Given the description of an element on the screen output the (x, y) to click on. 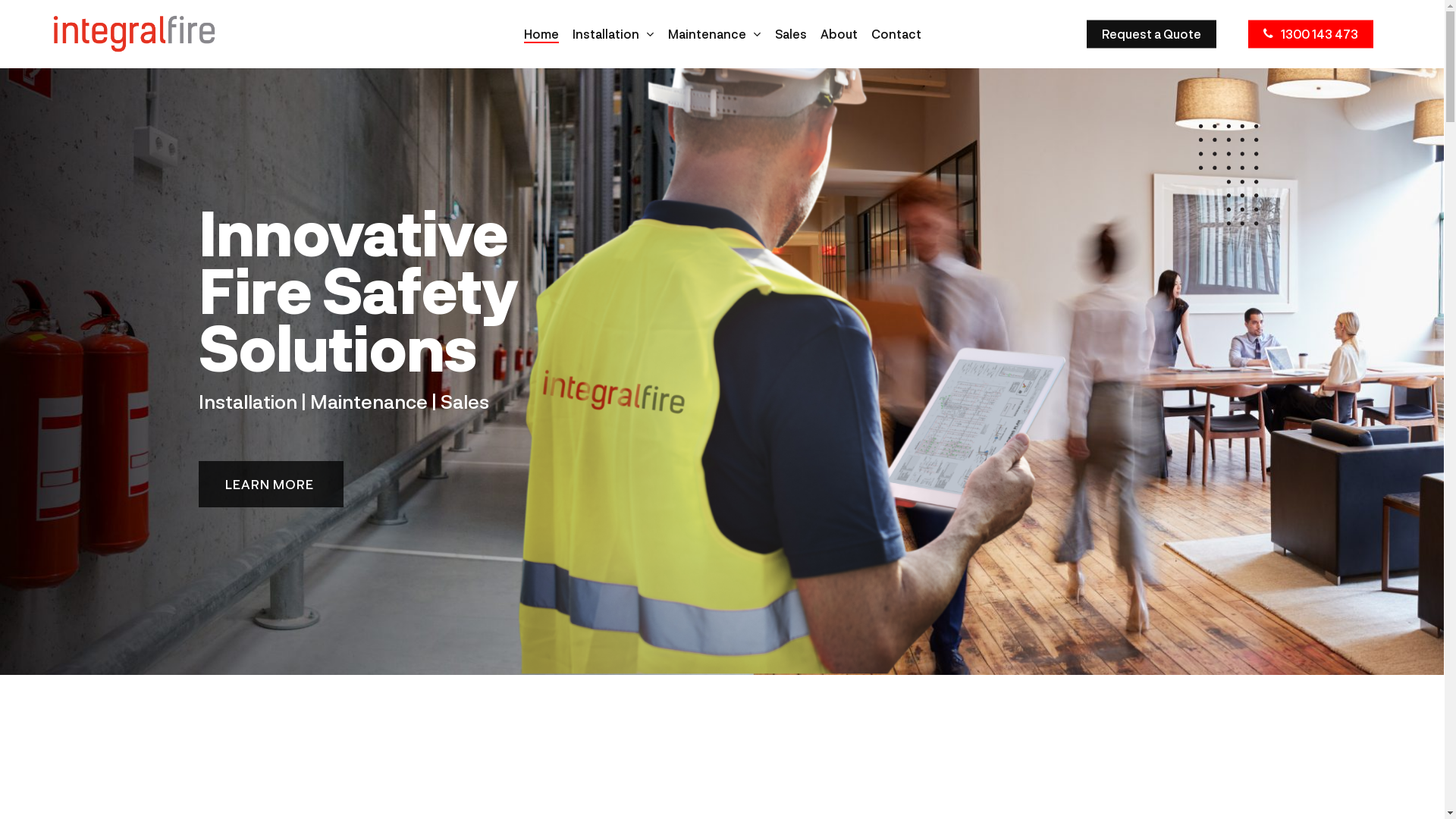
1300 143 473 Element type: text (1310, 33)
Maintenance Element type: text (713, 33)
Contact Element type: text (895, 33)
Home Element type: text (540, 33)
Request a Quote Element type: text (1151, 33)
Installation Element type: text (612, 33)
Sales Element type: text (790, 33)
About Element type: text (838, 33)
